Given the description of an element on the screen output the (x, y) to click on. 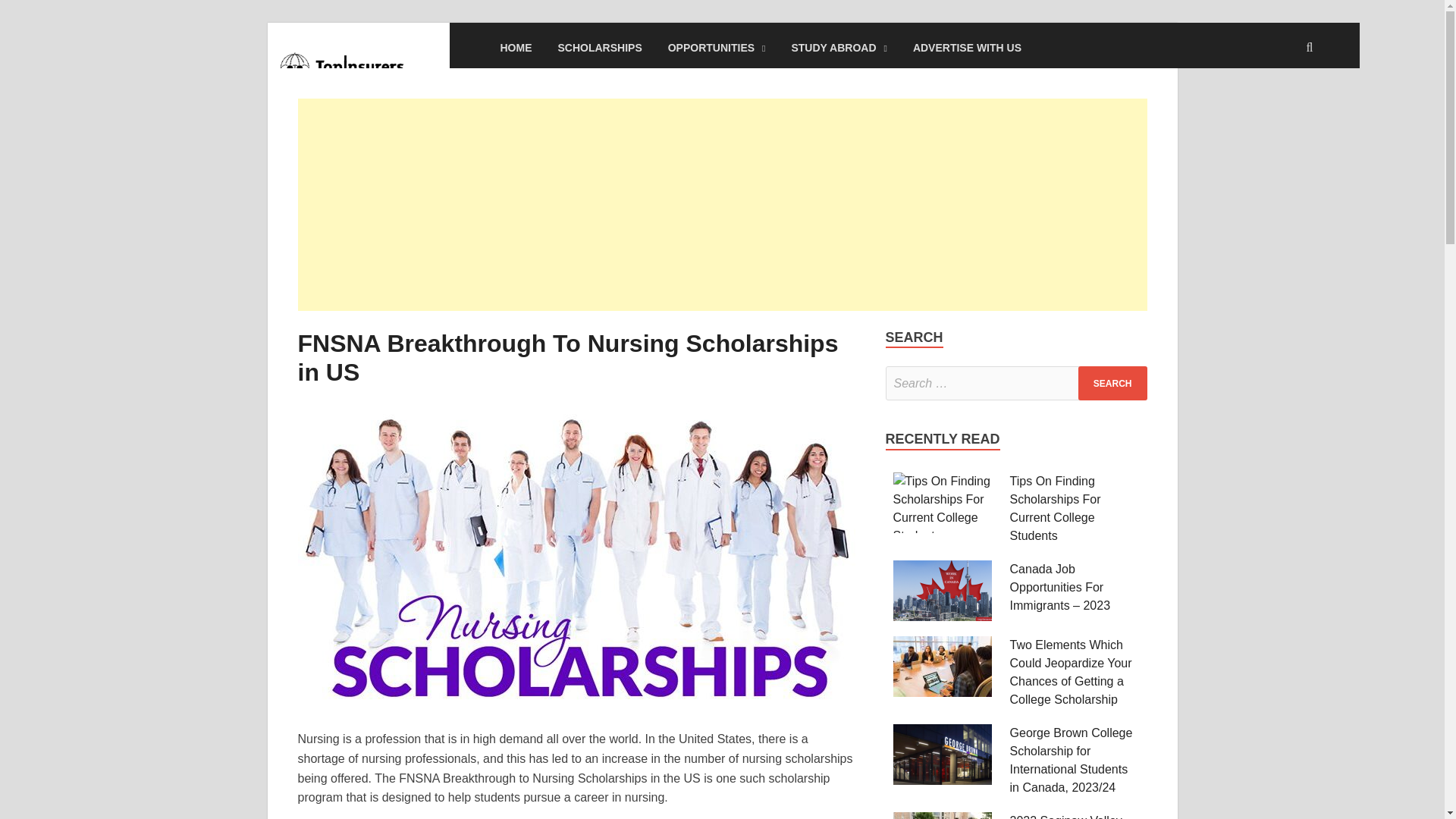
OPPORTUNITIES (716, 47)
SCHOLARSHIPS (598, 47)
HOME (515, 47)
Search (1112, 383)
STUDY ABROAD (838, 47)
ADVERTISE WITH US (966, 47)
Search (1112, 383)
